Given the description of an element on the screen output the (x, y) to click on. 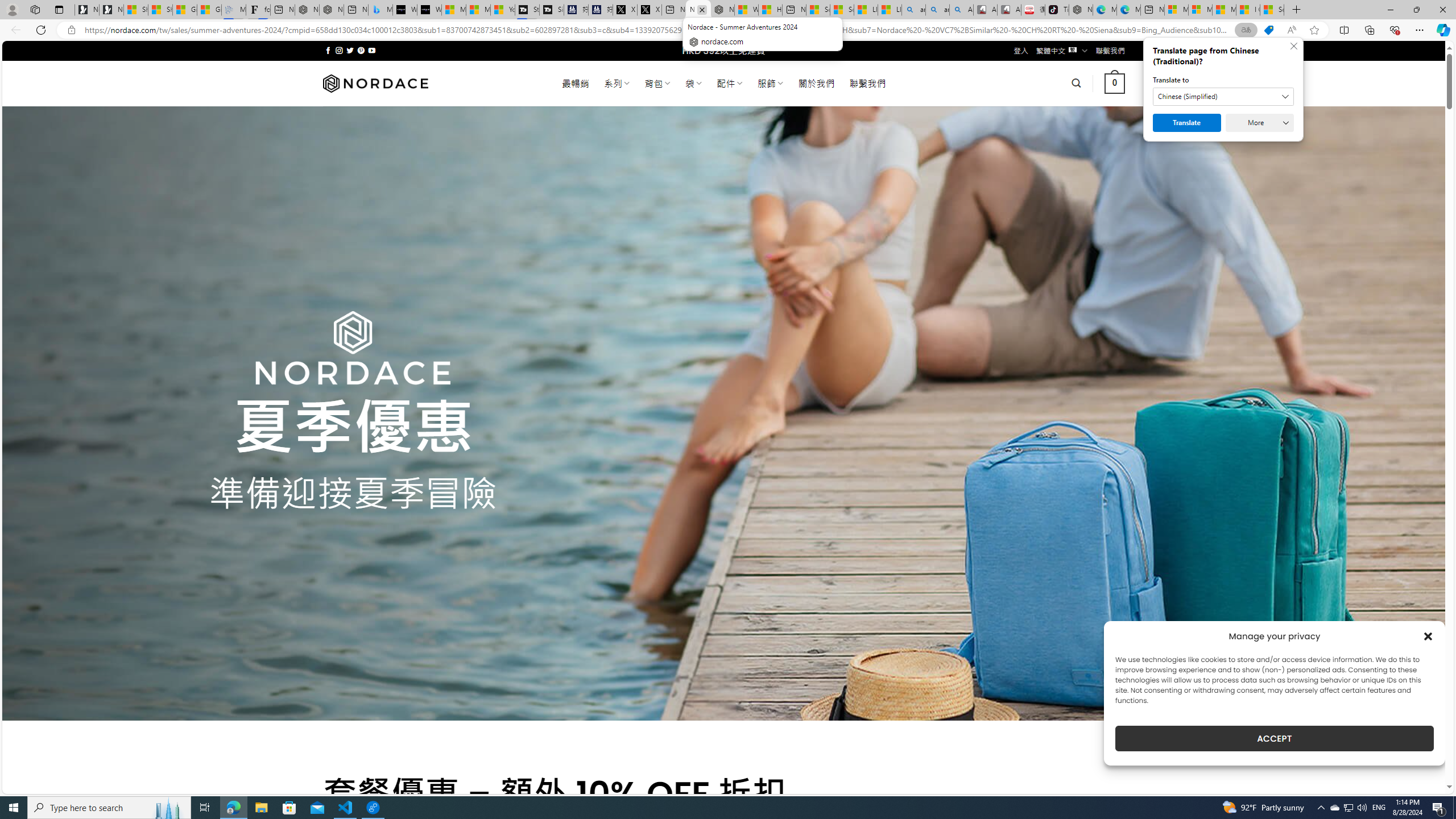
Amazon Echo Robot - Search Images (961, 9)
Microsoft Bing Travel - Shangri-La Hotel Bangkok (380, 9)
Follow on Pinterest (360, 50)
Show translate options (1245, 29)
